Given the description of an element on the screen output the (x, y) to click on. 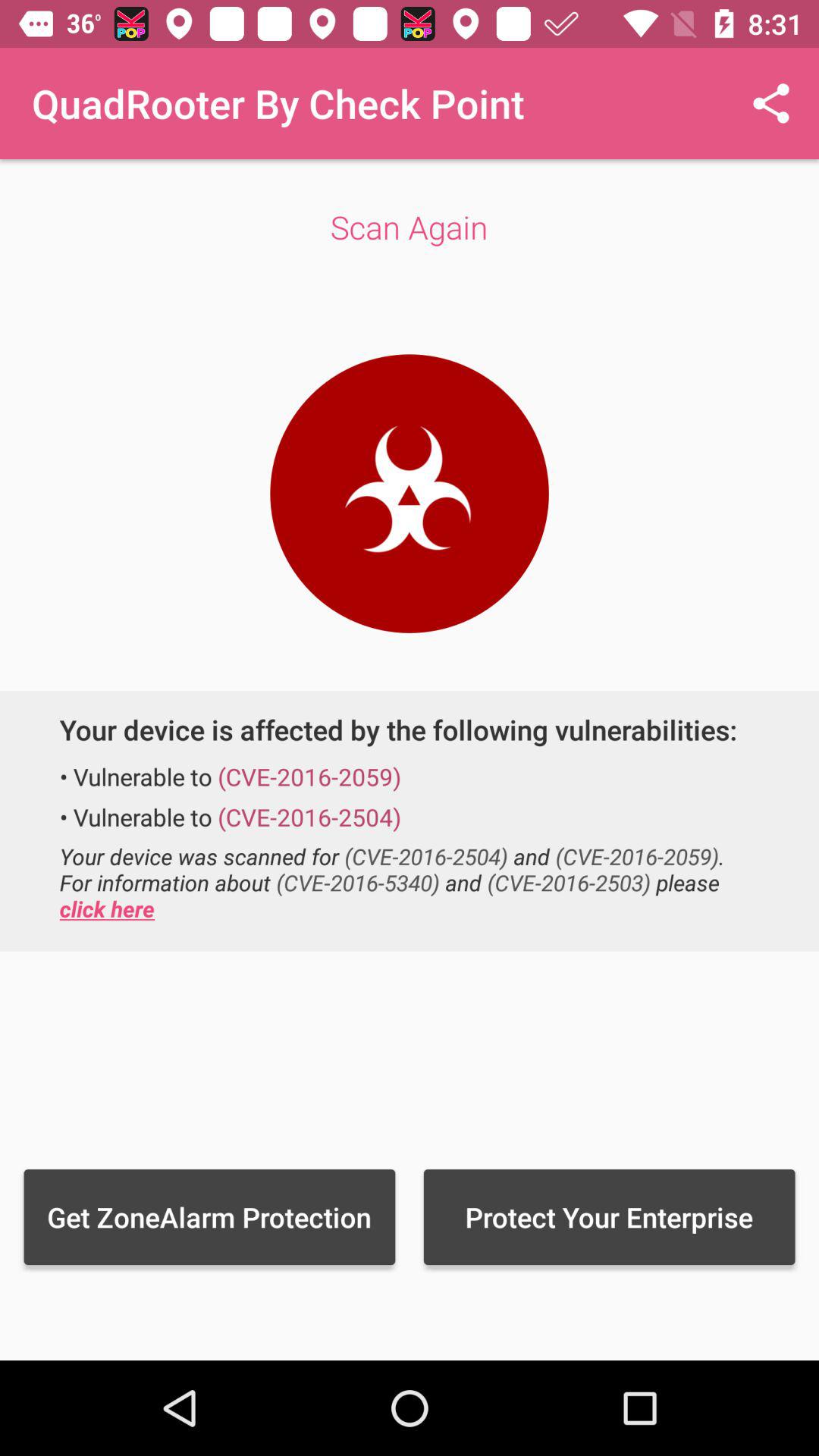
swipe until get zonealarm protection icon (209, 1216)
